Given the description of an element on the screen output the (x, y) to click on. 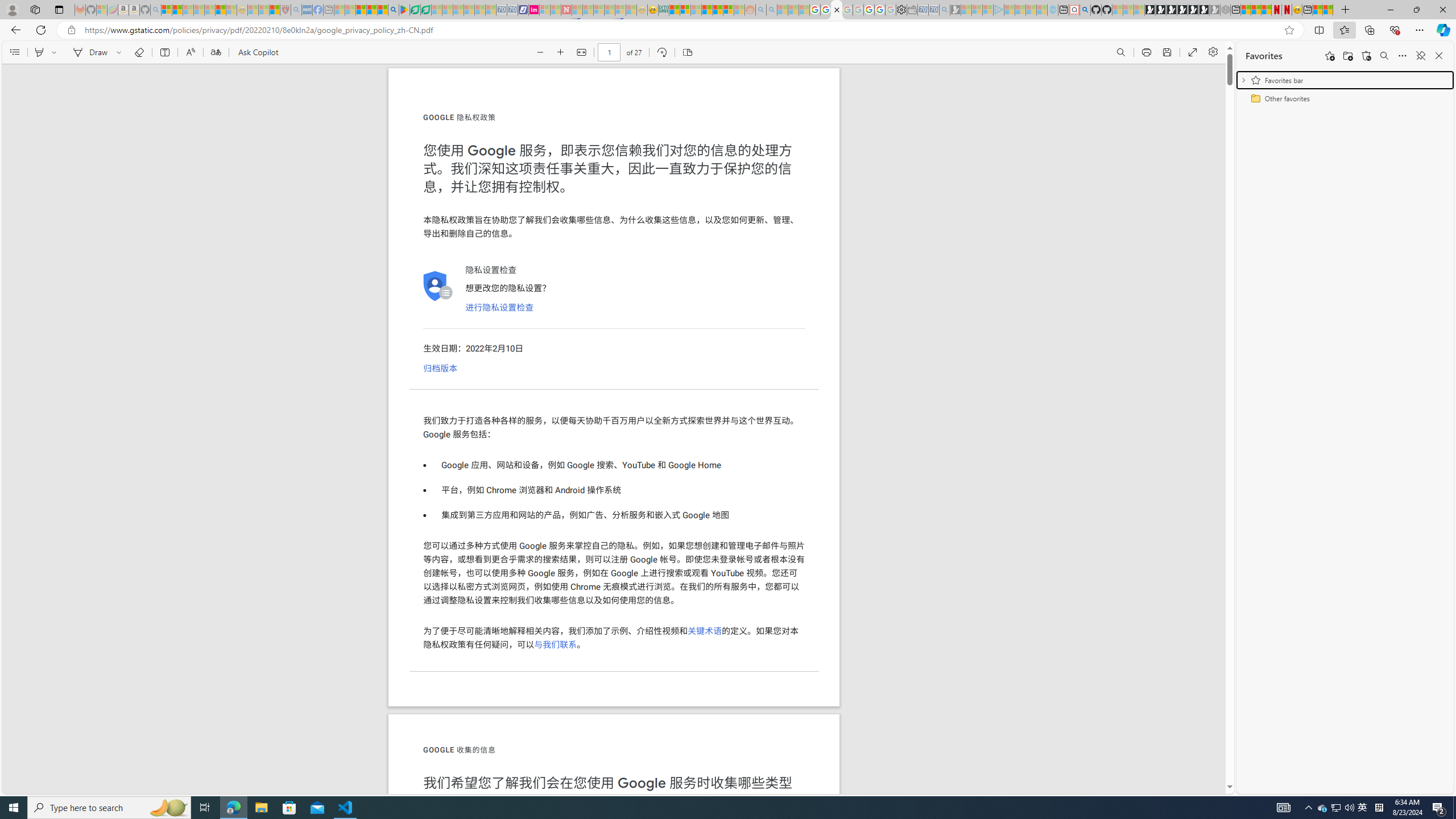
Search favorites (1383, 55)
Close favorites (1439, 55)
